Given the description of an element on the screen output the (x, y) to click on. 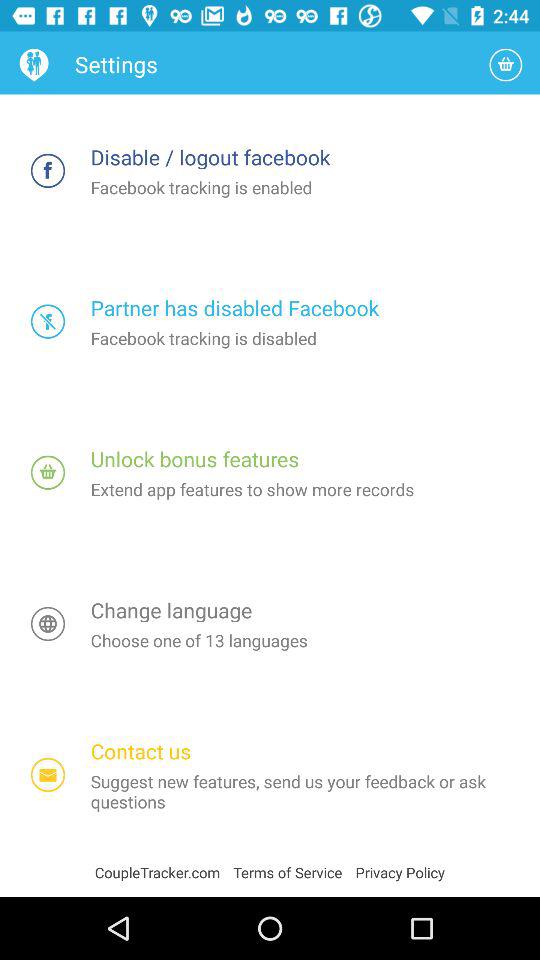
launch the app to the left of privacy policy icon (294, 872)
